Given the description of an element on the screen output the (x, y) to click on. 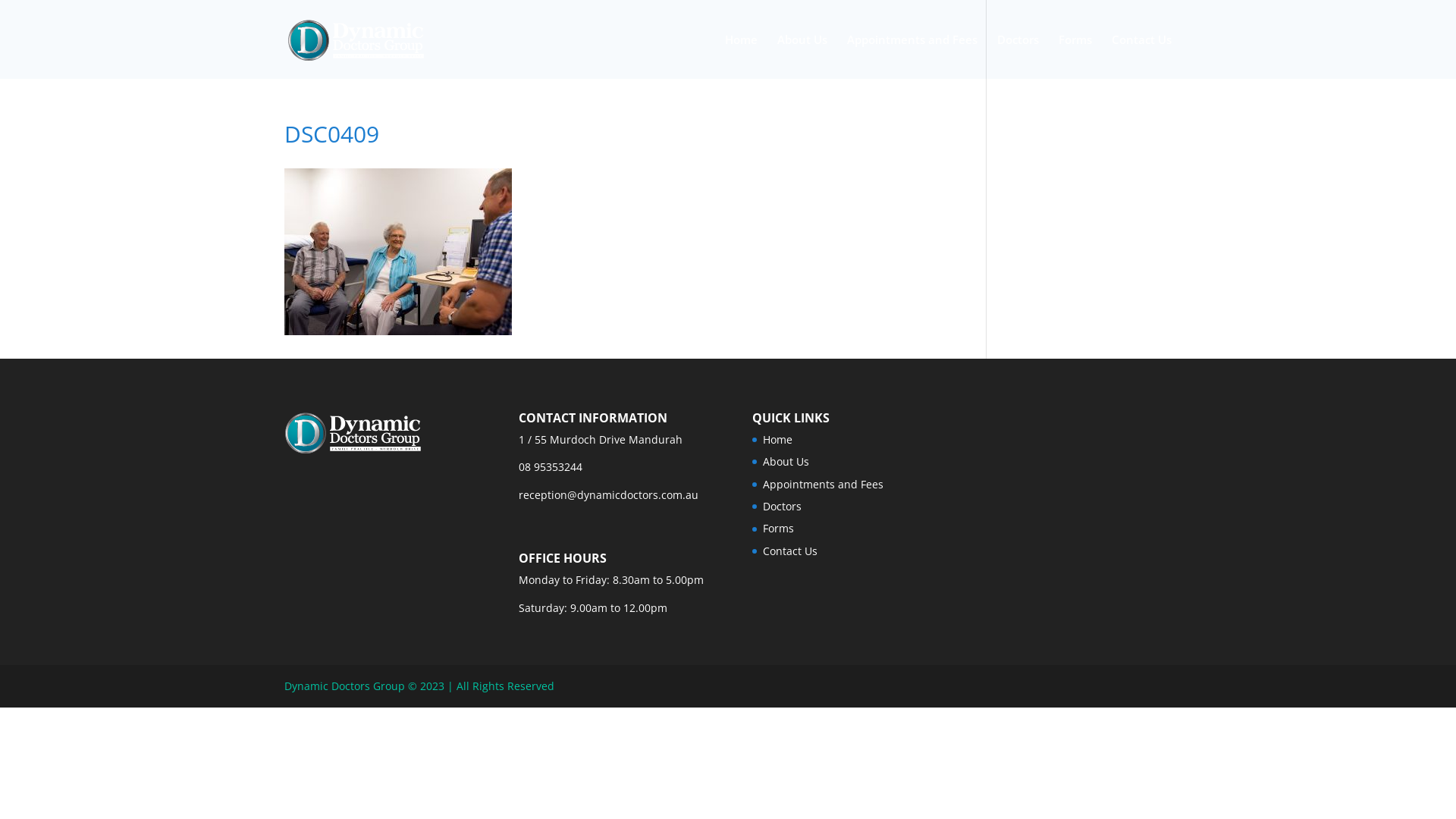
Appointments and Fees Element type: text (822, 483)
Forms Element type: text (1075, 56)
08 95353244 Element type: text (550, 466)
About Us Element type: text (802, 56)
Home Element type: text (740, 56)
Doctors Element type: text (1017, 56)
Doctors Element type: text (781, 505)
reception@dynamicdoctors.com.au Element type: text (608, 494)
Home Element type: text (777, 439)
Contact Us Element type: text (1141, 56)
Contact Us Element type: text (789, 550)
Forms Element type: text (777, 527)
Appointments and Fees Element type: text (912, 56)
About Us Element type: text (785, 461)
